Given the description of an element on the screen output the (x, y) to click on. 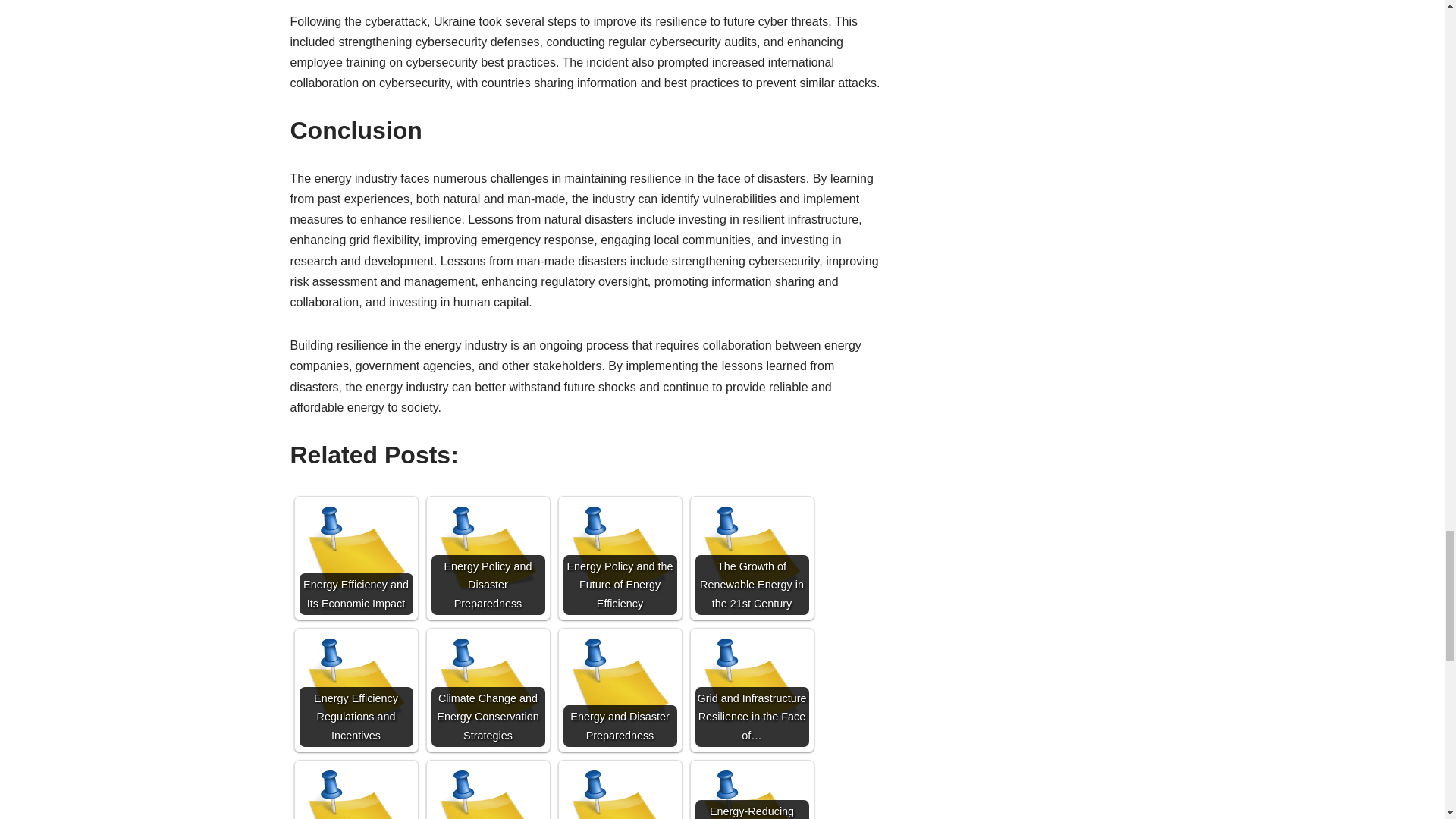
Energy Policy and Disaster Preparedness (487, 558)
Energy Policy and the Future of Energy Efficiency (619, 558)
Energy Efficiency and Its Economic Impact (355, 558)
